Given the description of an element on the screen output the (x, y) to click on. 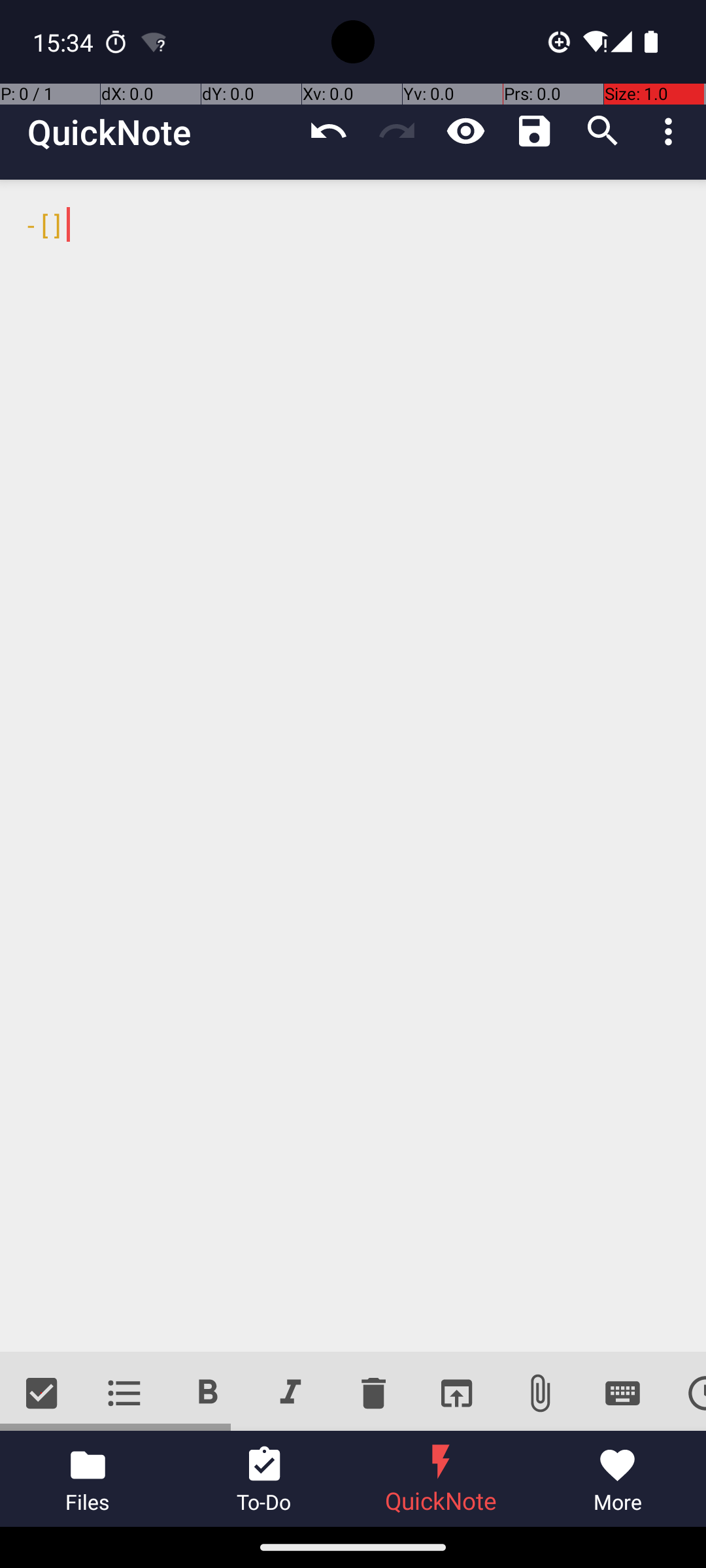
- [ ]  Element type: android.widget.EditText (353, 765)
